Given the description of an element on the screen output the (x, y) to click on. 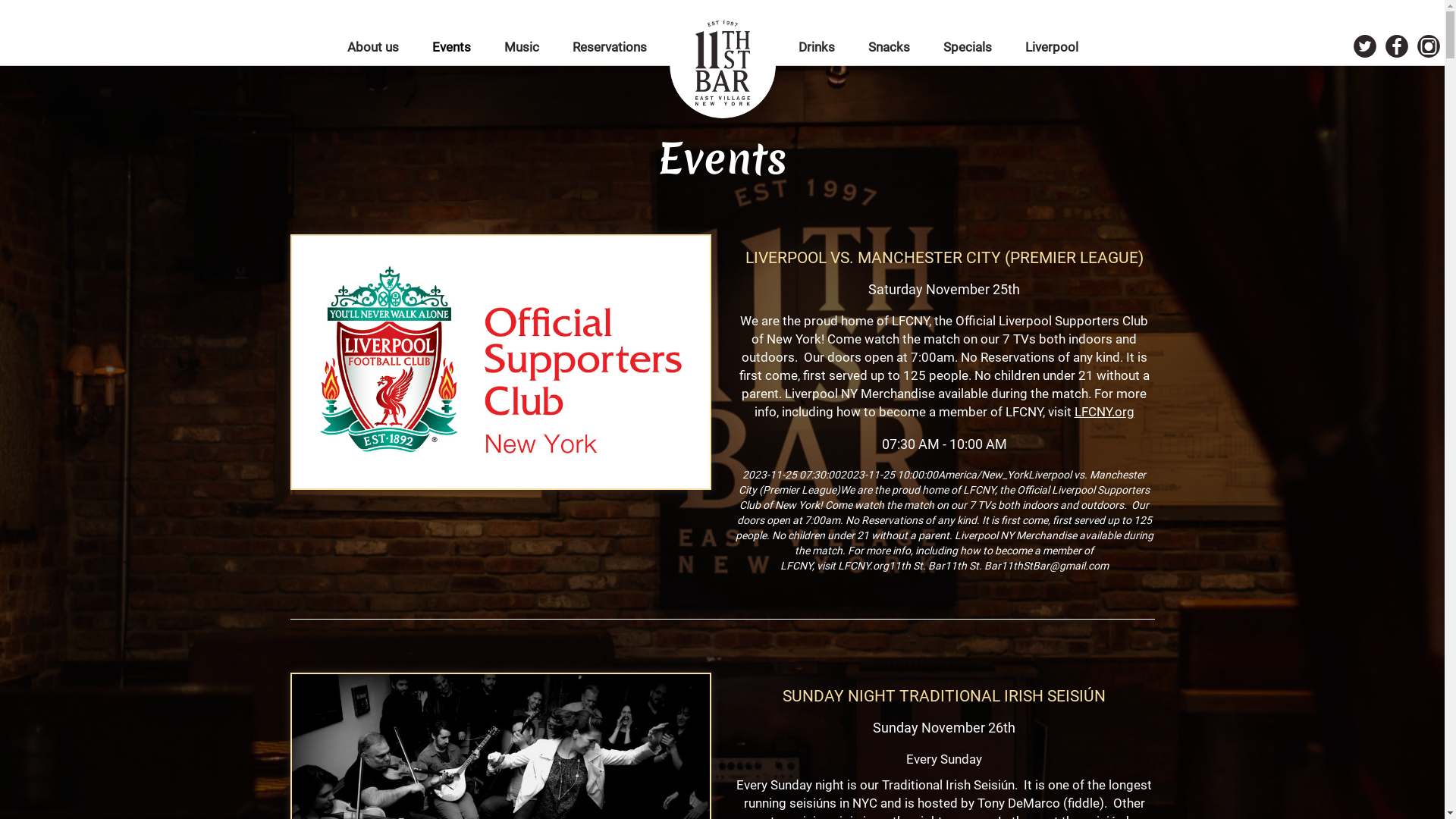
Reservations Element type: text (608, 46)
Drinks Element type: text (817, 46)
Events Element type: text (453, 46)
Specials Element type: text (969, 46)
Snacks Element type: text (889, 46)
Liverpool Element type: text (1051, 46)
About us Element type: text (374, 46)
LFCNY.org Element type: text (1103, 411)
Music Element type: text (522, 46)
